Given the description of an element on the screen output the (x, y) to click on. 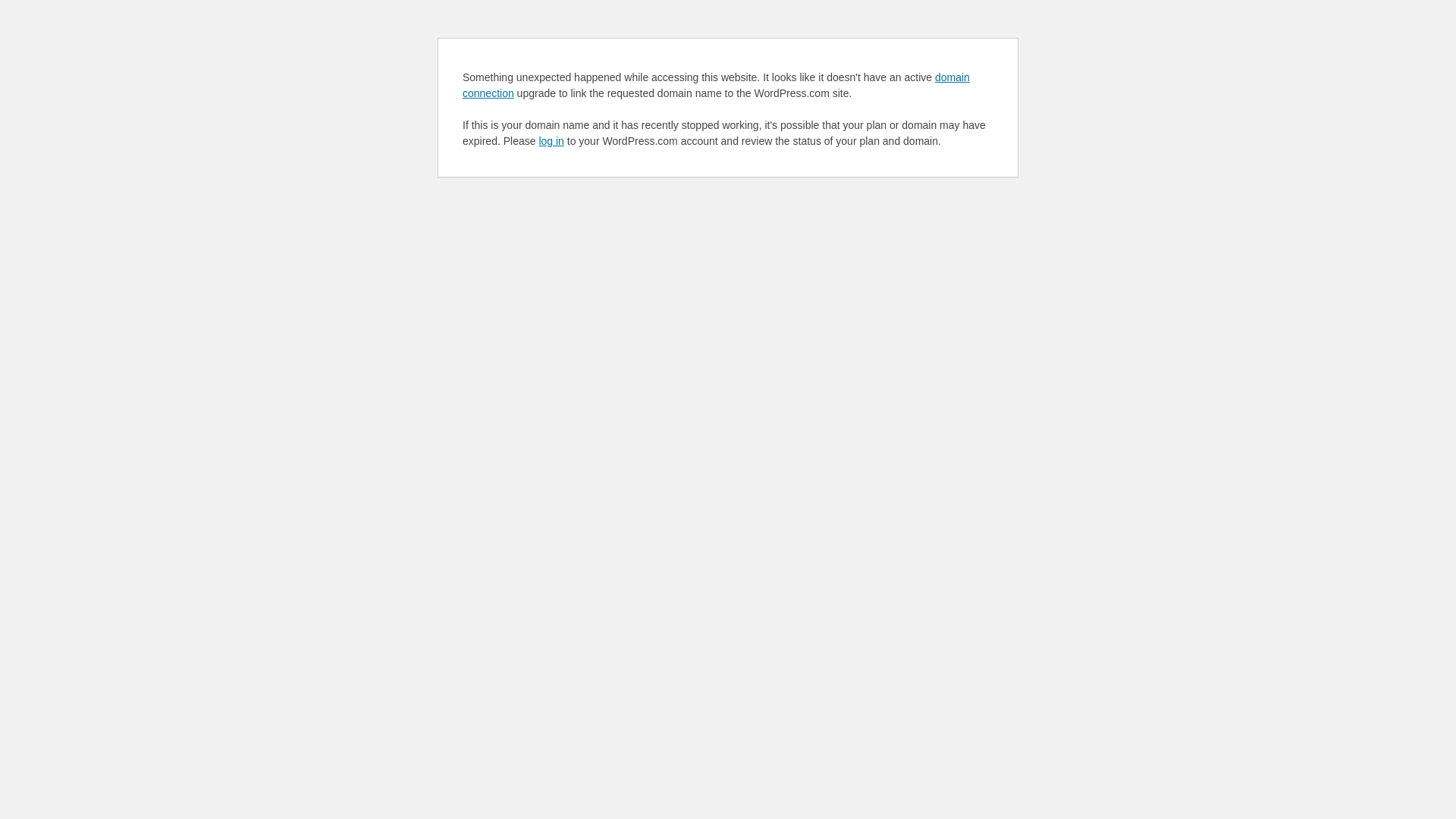
log in Element type: text (550, 140)
domain connection Element type: text (715, 85)
